Given the description of an element on the screen output the (x, y) to click on. 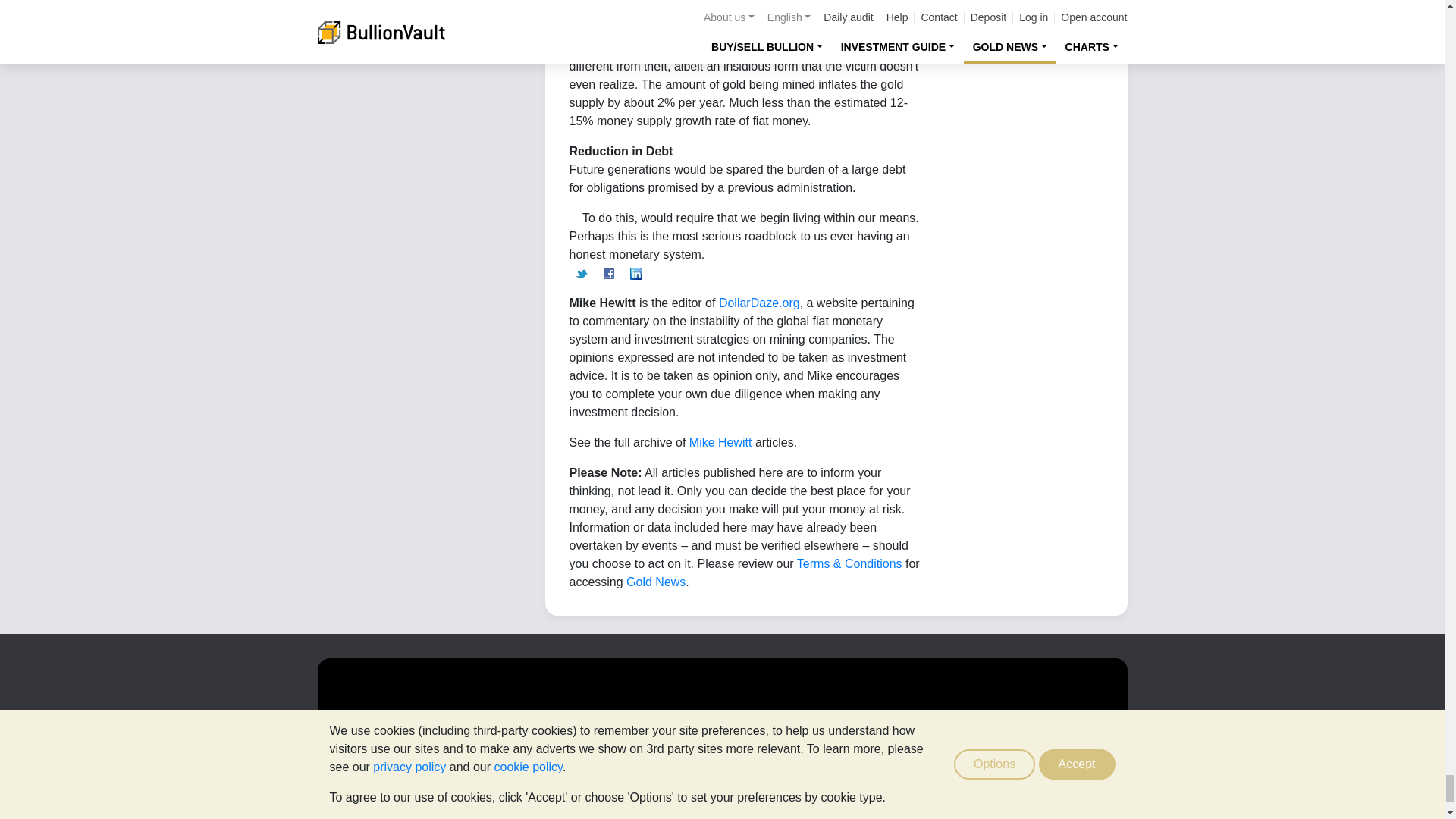
Publish this post to LinkedIn (636, 272)
Share on Facebook (608, 272)
Share this on Twitter (580, 272)
